Given the description of an element on the screen output the (x, y) to click on. 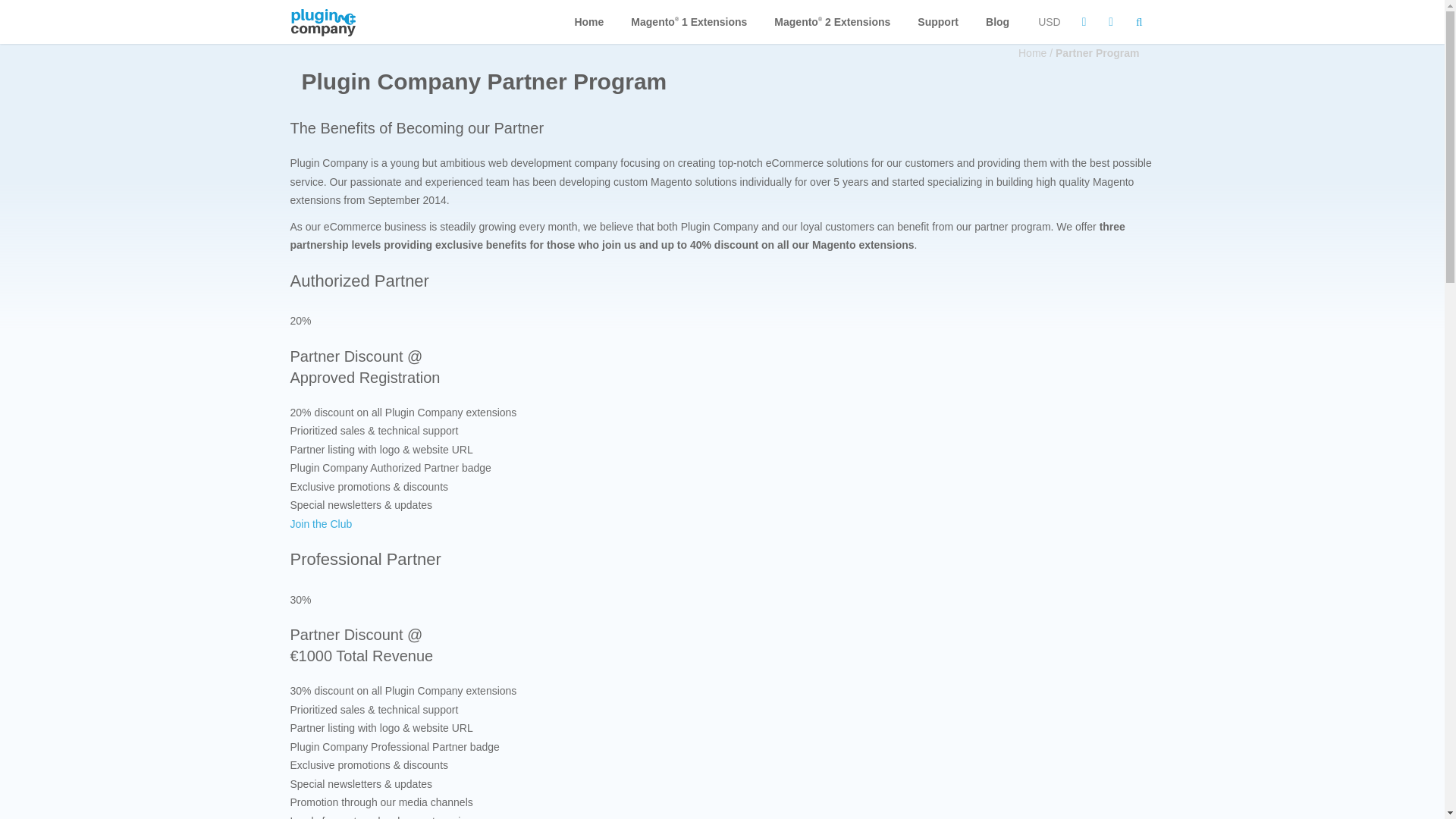
Go to Home Page (1036, 52)
Home (588, 22)
Partner Program (1096, 52)
USD (1048, 22)
